Given the description of an element on the screen output the (x, y) to click on. 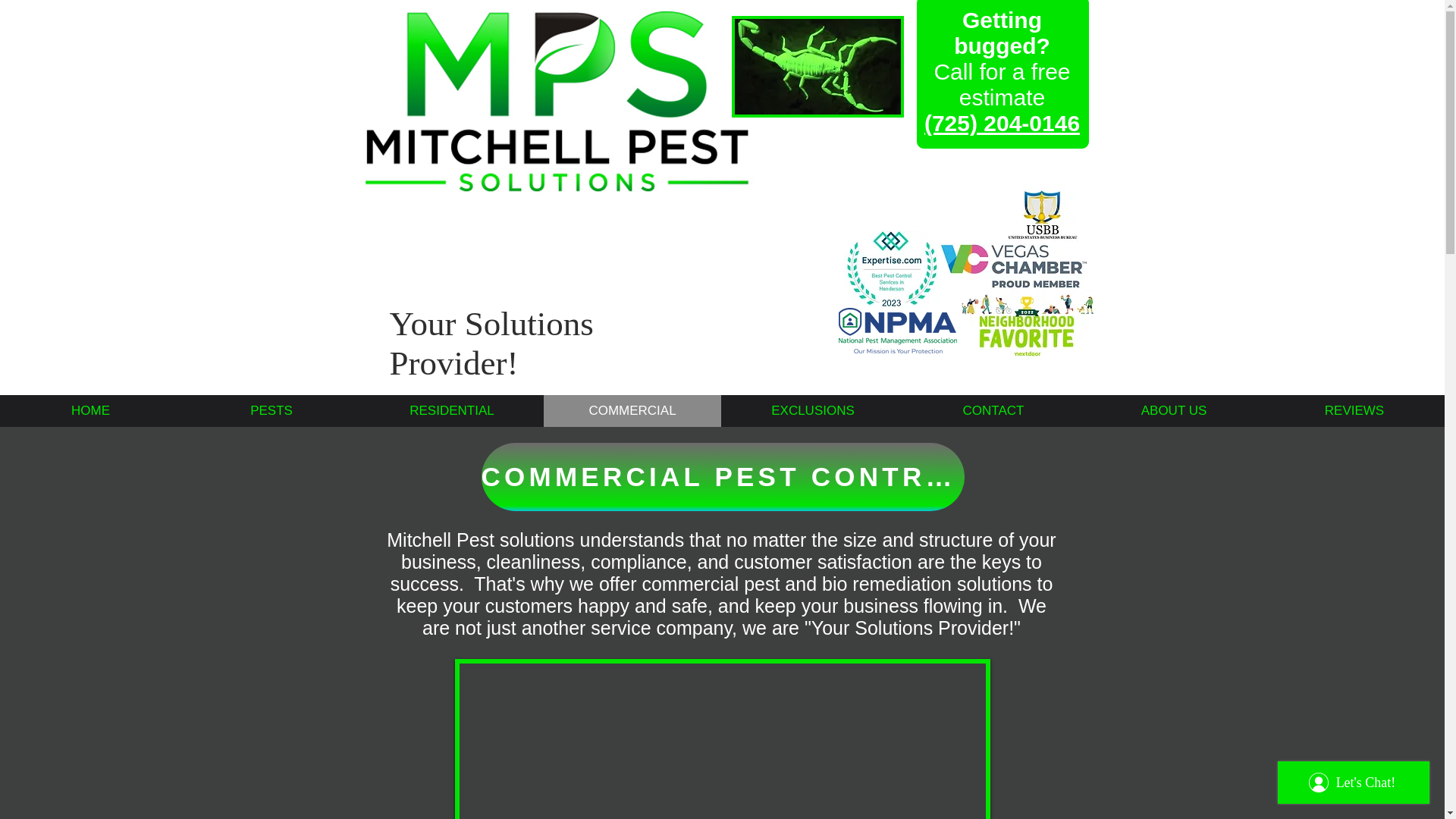
CONTACT (992, 410)
REVIEWS (1353, 410)
COMMERCIAL PEST CONTROL (721, 477)
ABOUT US (1173, 410)
PESTS (271, 410)
COMMERCIAL (631, 410)
RESIDENTIAL (451, 410)
EXCLUSIONS (812, 410)
expertise.com logo.jpg (890, 268)
HOME (90, 410)
